Given the description of an element on the screen output the (x, y) to click on. 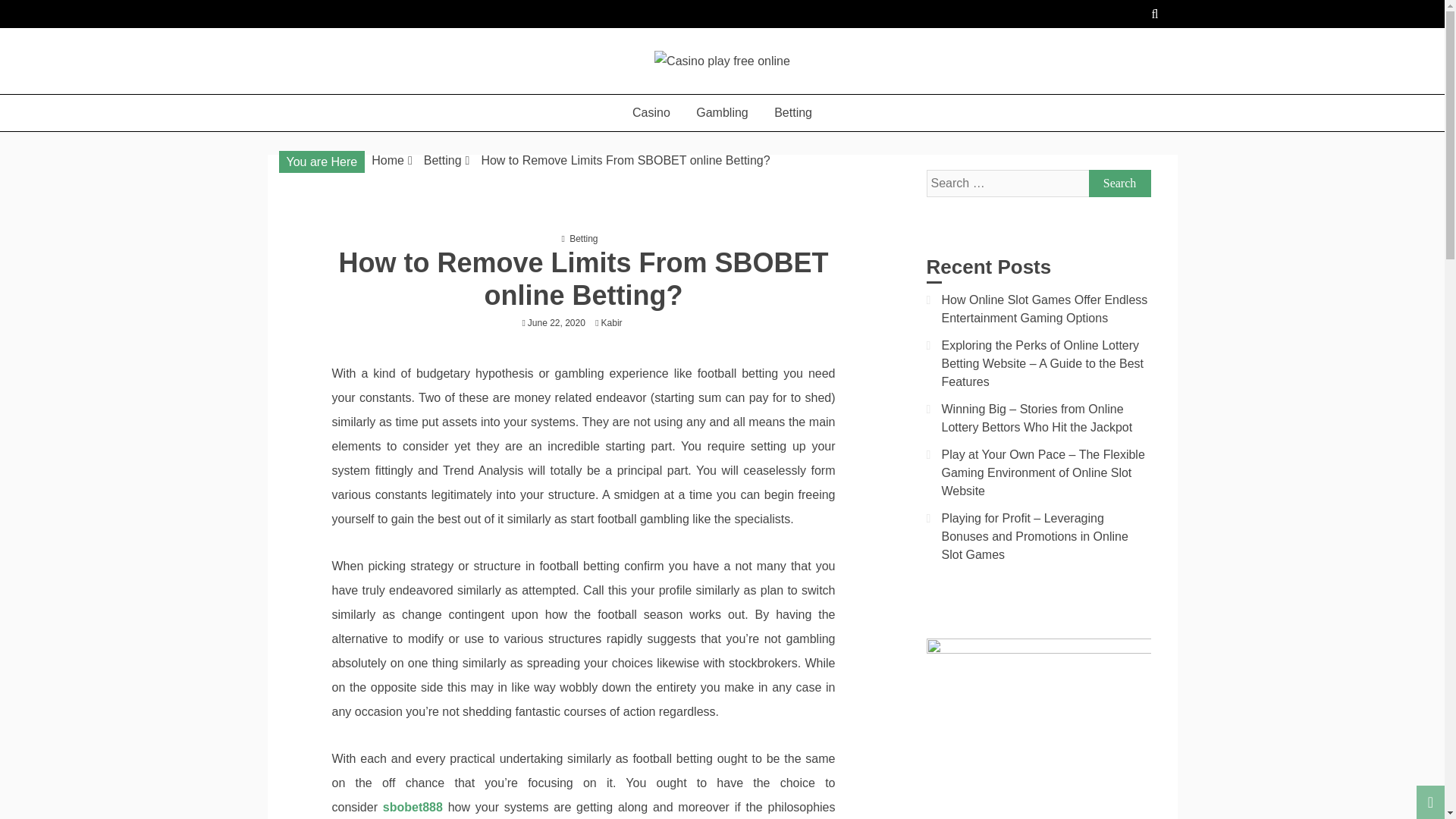
Search (1120, 183)
June 22, 2020 (556, 322)
Search (1120, 183)
How to Remove Limits From SBOBET online Betting? (625, 160)
Gambling (721, 112)
Betting (793, 112)
Betting (442, 160)
Casino (651, 112)
Home (387, 160)
